Given the description of an element on the screen output the (x, y) to click on. 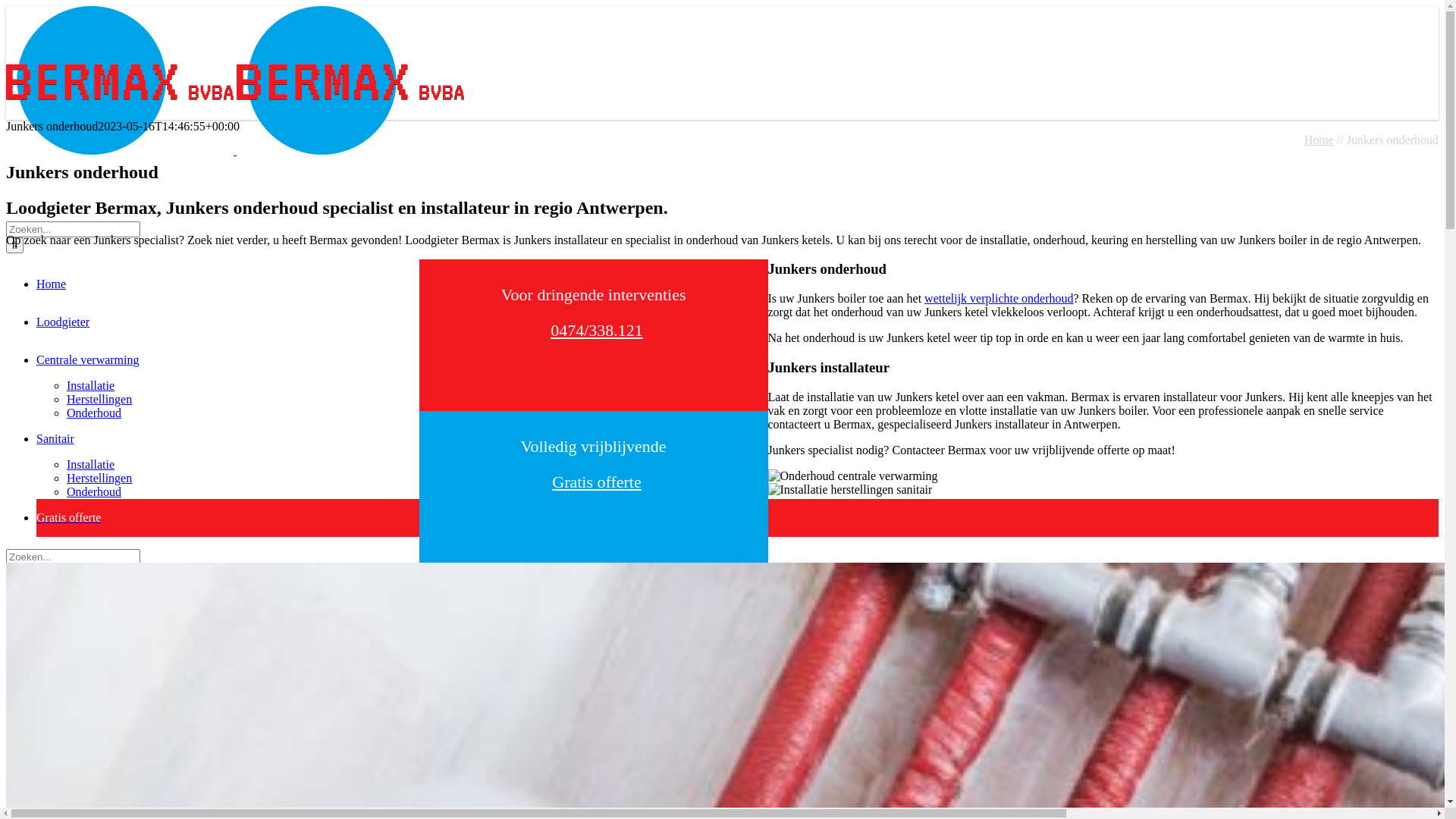
Skip to content Element type: text (5, 5)
Home Element type: text (1318, 139)
Herstellingen Element type: text (98, 398)
wettelijk verplichte onderhoud Element type: text (998, 297)
Herstellingen Element type: text (98, 477)
Centrale verwarming Element type: text (87, 359)
Onderhoud Element type: text (93, 491)
Gratis offerte Element type: text (68, 517)
Onderhoud Element type: text (93, 412)
Sanitair Element type: text (55, 438)
Installatie Element type: text (90, 464)
Voor dringende interventies
0474/338.121 Element type: text (592, 317)
Home Element type: text (50, 283)
Loodgieter Element type: text (62, 321)
Volledig vrijblijvende
Gratis offerte Element type: text (592, 469)
Installatie Element type: text (90, 385)
